Given the description of an element on the screen output the (x, y) to click on. 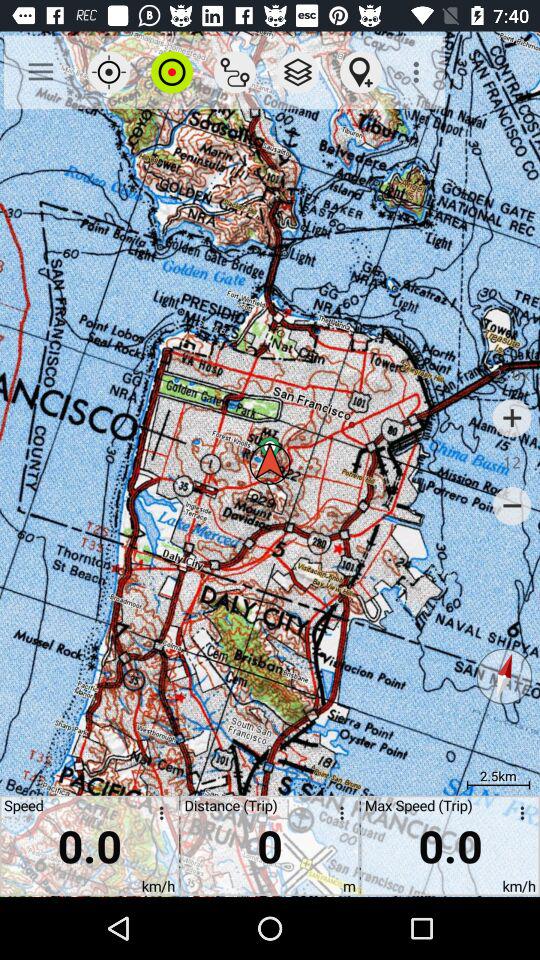
options for distance (338, 816)
